Given the description of an element on the screen output the (x, y) to click on. 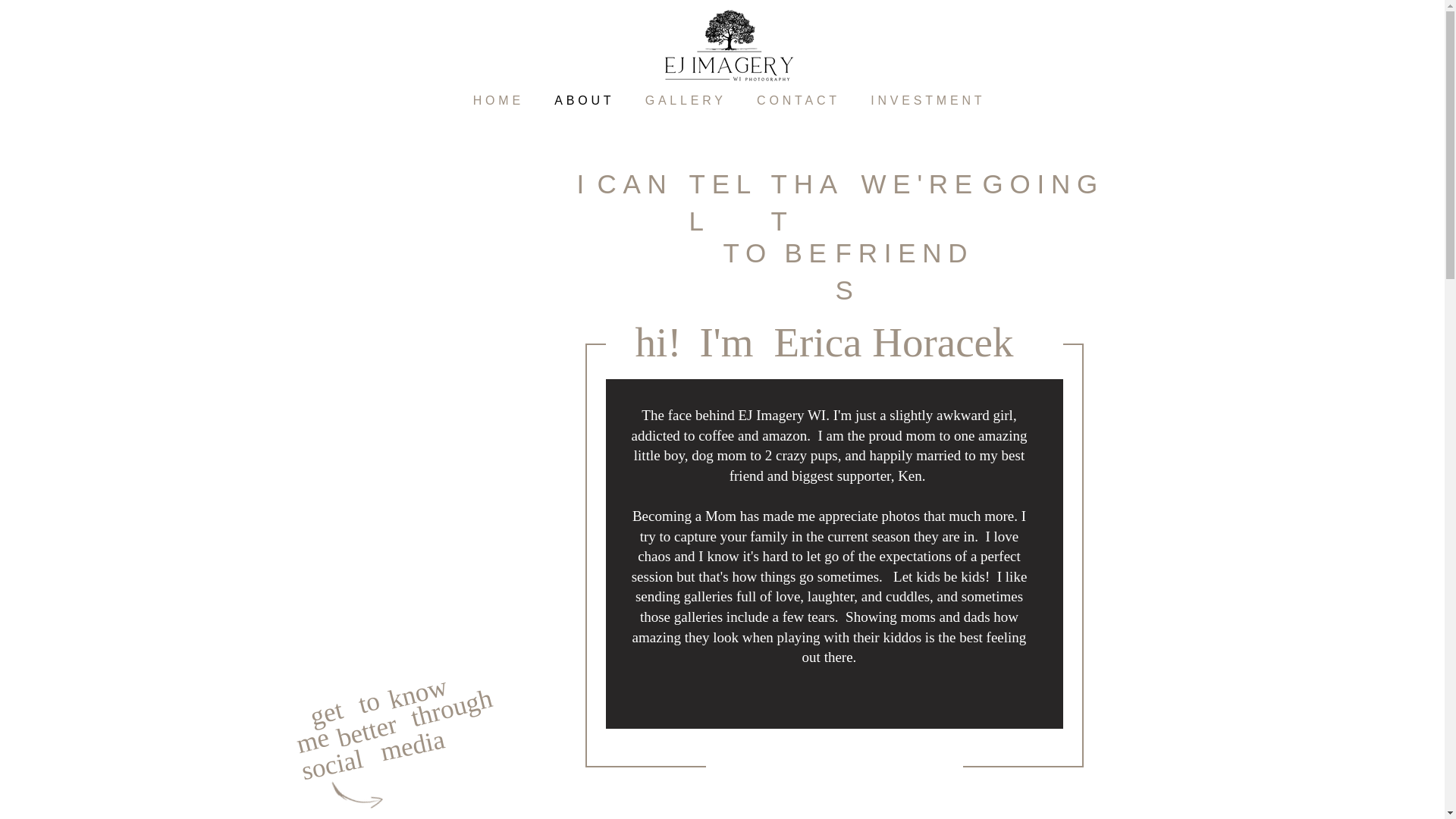
CONTACT (797, 100)
ABOUT (583, 100)
GALLERY (684, 100)
HOME (499, 100)
INVESTMENT (928, 100)
